Given the description of an element on the screen output the (x, y) to click on. 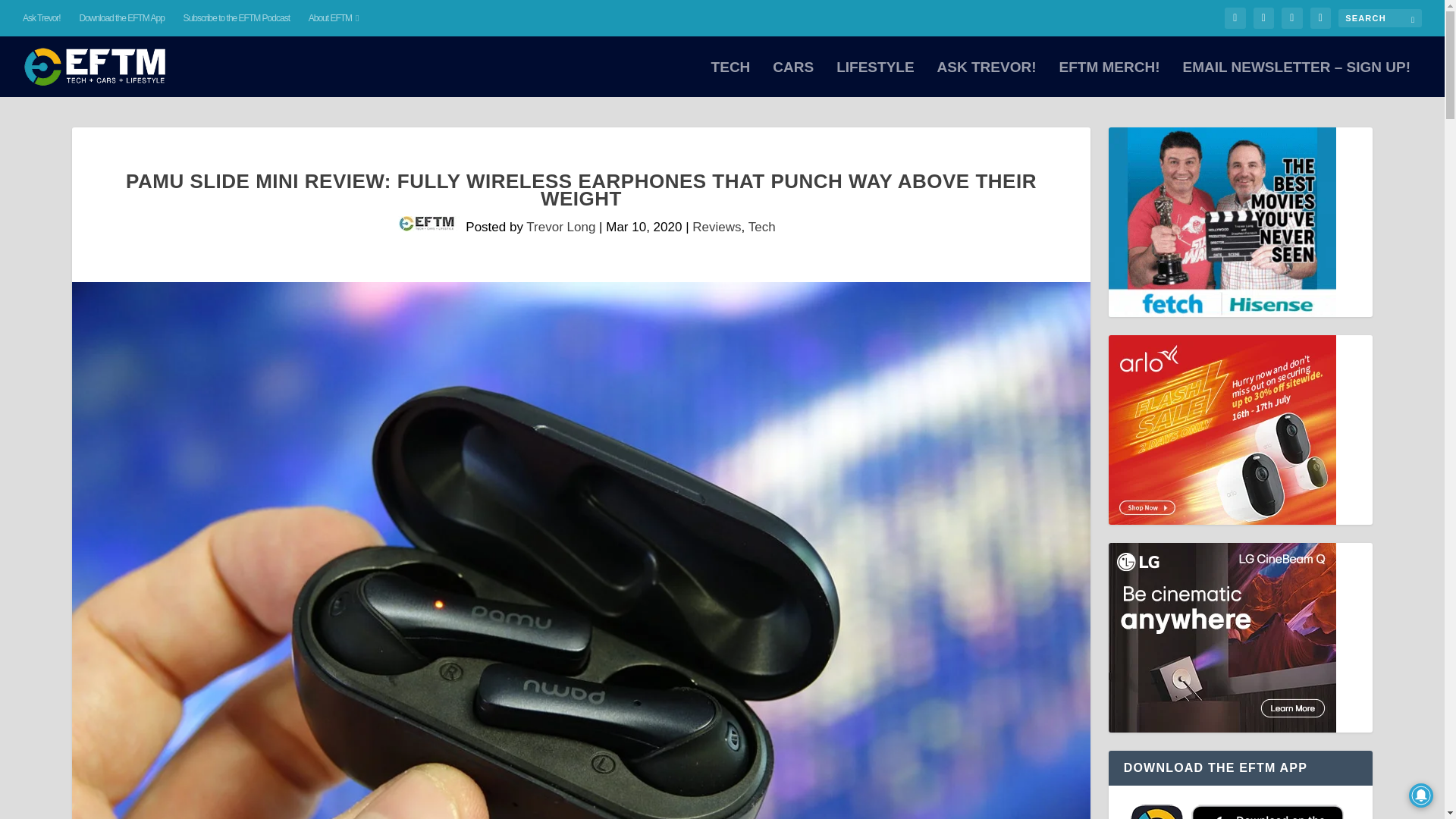
Download the EFTM App (120, 18)
About EFTM (333, 18)
Posts by Trevor Long (560, 227)
LIFESTYLE (874, 79)
CARS (793, 79)
Ask Trevor! (42, 18)
ASK TREVOR! (986, 79)
EFTM MERCH! (1108, 79)
Subscribe to the EFTM Podcast (236, 18)
Search for: (1380, 18)
TECH (731, 79)
